Given the description of an element on the screen output the (x, y) to click on. 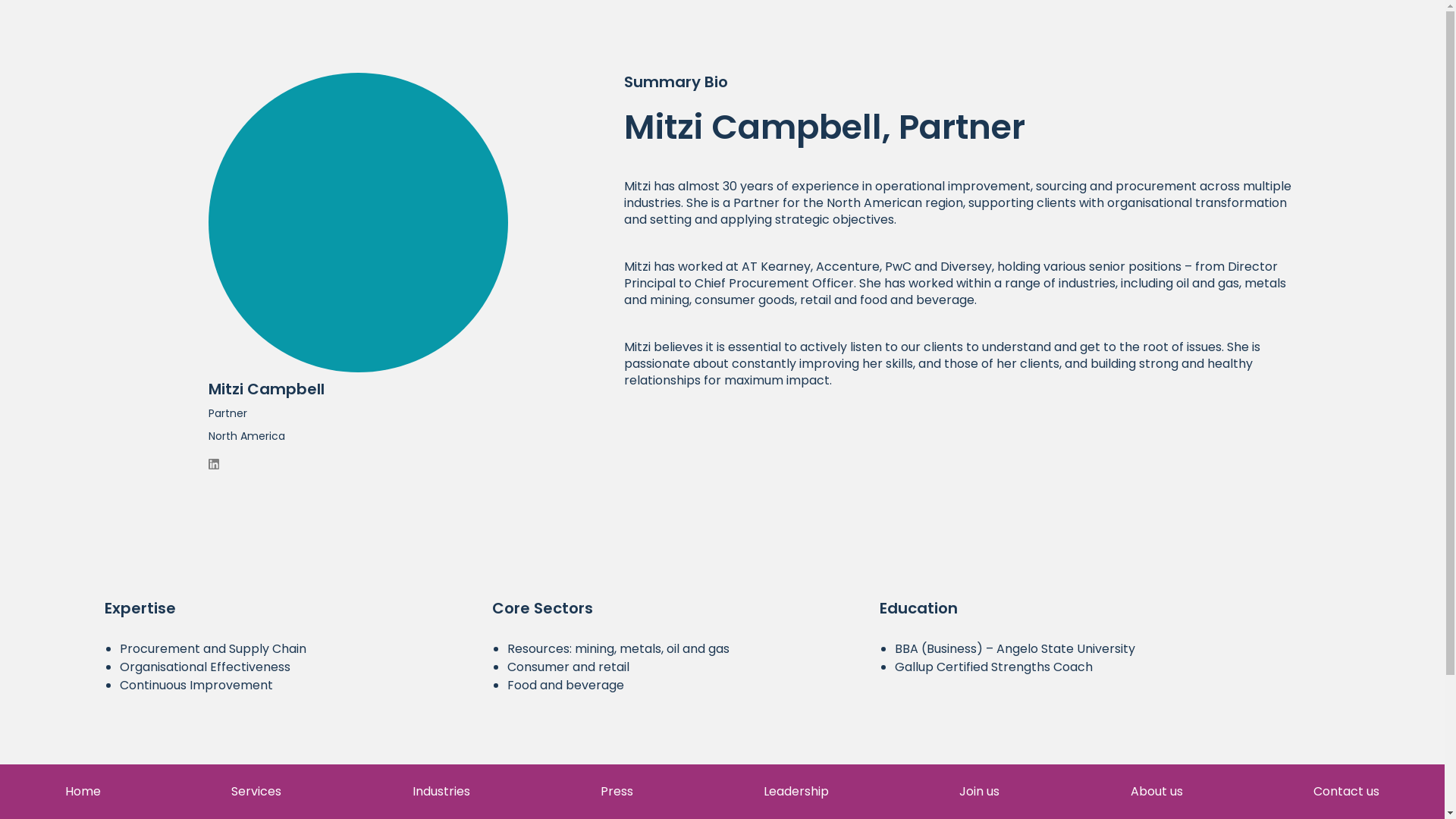
Join us (978, 791)
Services (256, 791)
Leadership (795, 791)
Contact us (1068, 817)
Press (616, 791)
Contact us (1345, 791)
Home (82, 791)
Industries (441, 791)
About us (1156, 791)
